Given the description of an element on the screen output the (x, y) to click on. 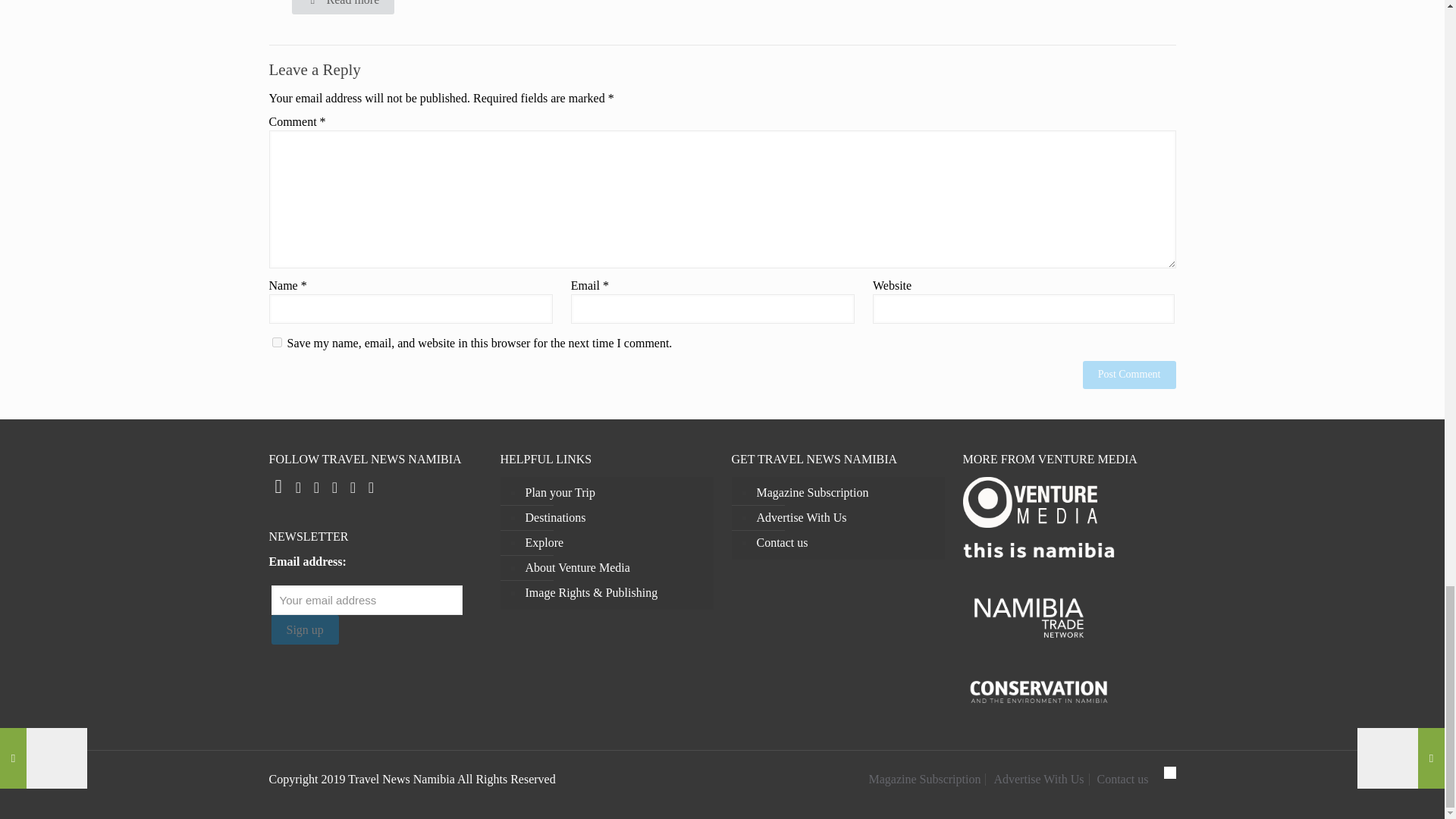
Destinations (614, 518)
Instagram (316, 488)
Vimeo (353, 488)
About Venture Media (614, 568)
Sign up (304, 629)
Twitter (298, 488)
Explore (614, 543)
YouTube (371, 488)
Facebook (276, 488)
Post Comment (1129, 375)
Sign up (304, 629)
yes (275, 342)
Read more (342, 7)
Post Comment (1129, 375)
Plan your Trip (614, 493)
